Given the description of an element on the screen output the (x, y) to click on. 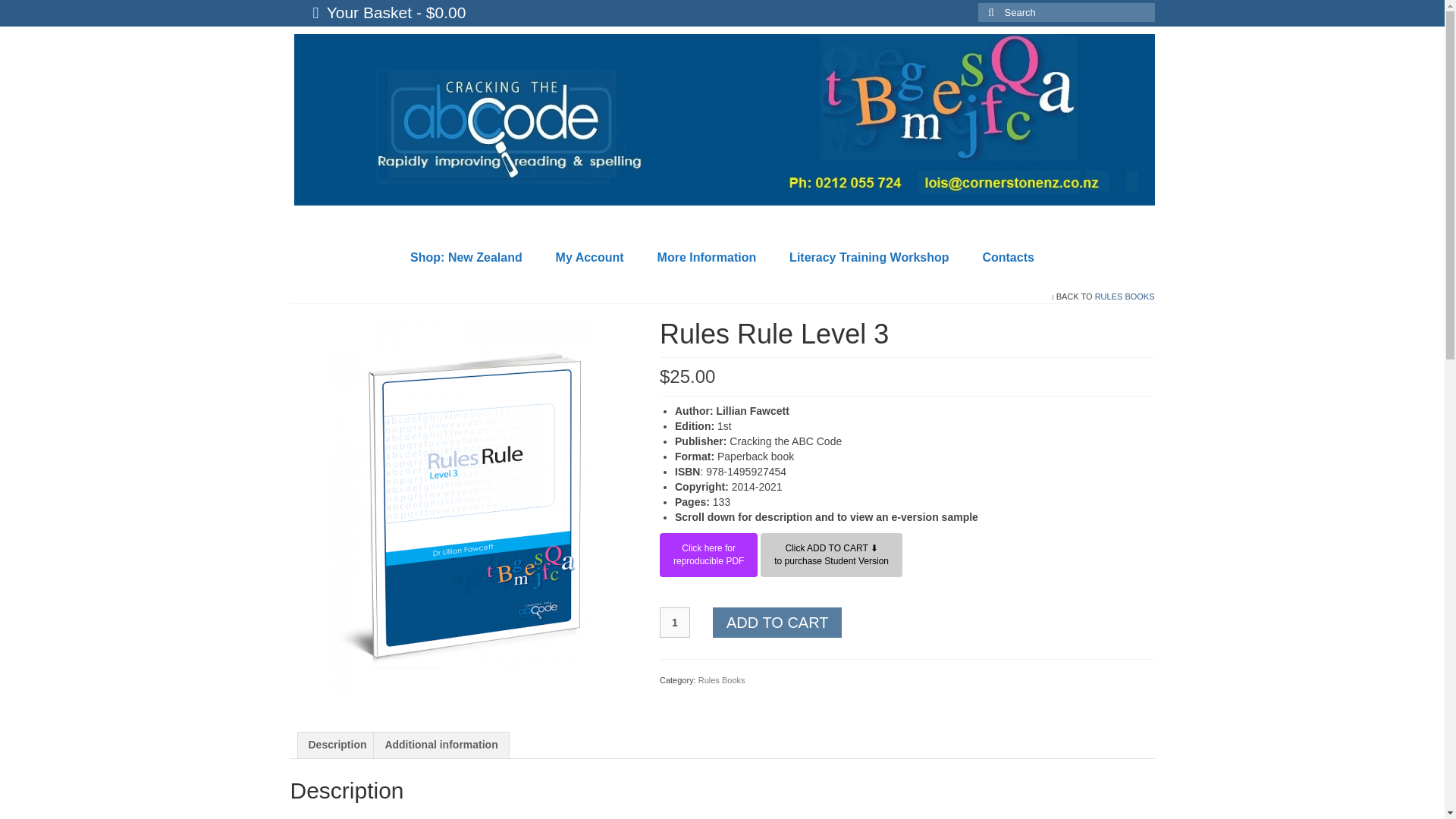
RULES BOOKS (708, 555)
Description (1124, 296)
My Account (336, 745)
Shop: New Zealand (589, 257)
1 (465, 257)
More Information (674, 622)
Literacy Training Workshop (706, 257)
Additional information (868, 257)
ADD TO CART (440, 745)
View your shopping basket (777, 622)
Rules Books (388, 13)
Contacts (721, 679)
